Given the description of an element on the screen output the (x, y) to click on. 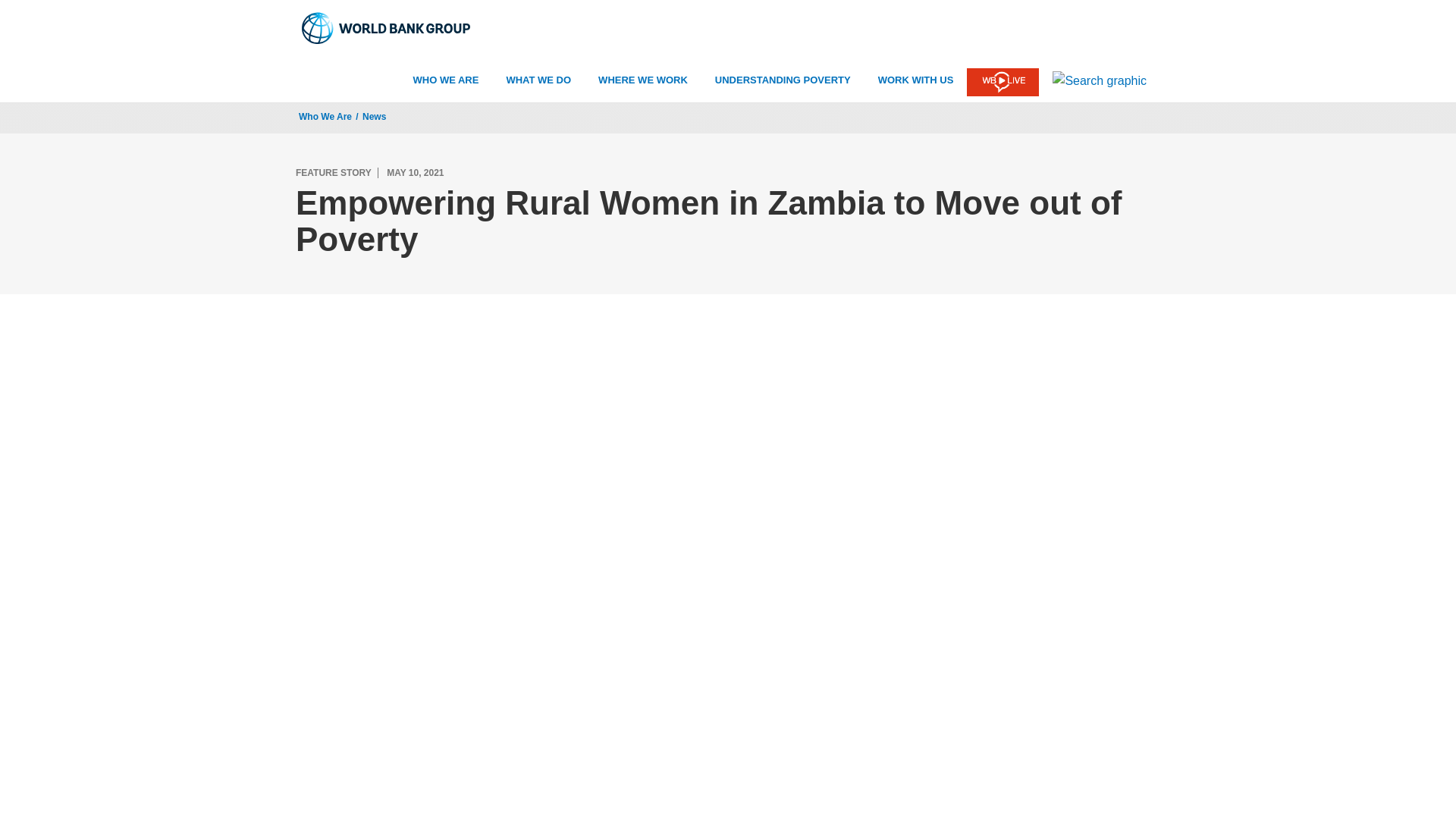
Global Search (1099, 80)
WHAT WE DO (537, 81)
The World Bank Group logo (386, 28)
WHO WE ARE (446, 81)
